Given the description of an element on the screen output the (x, y) to click on. 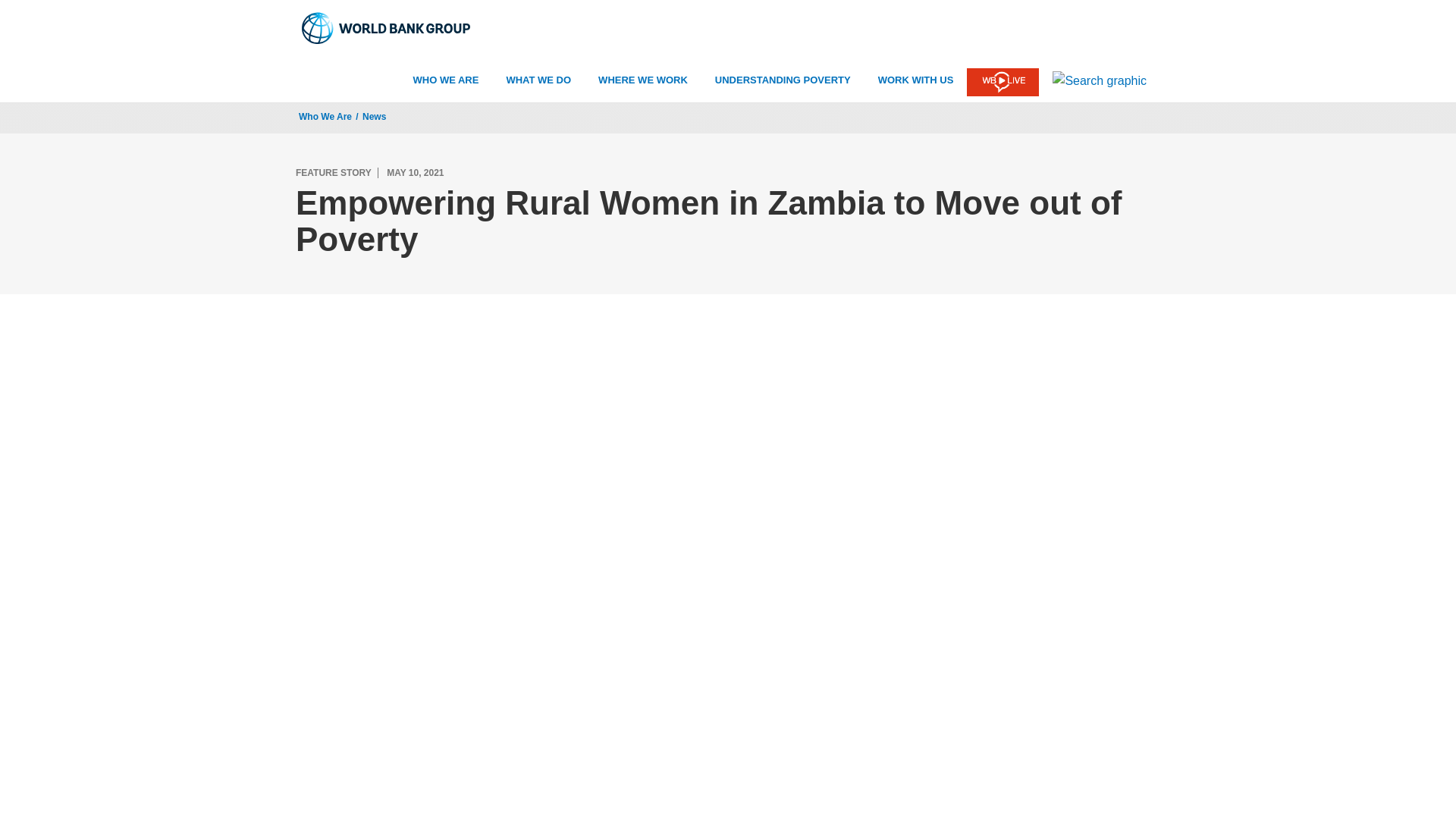
Global Search (1099, 80)
WHAT WE DO (537, 81)
The World Bank Group logo (386, 28)
WHO WE ARE (446, 81)
